Given the description of an element on the screen output the (x, y) to click on. 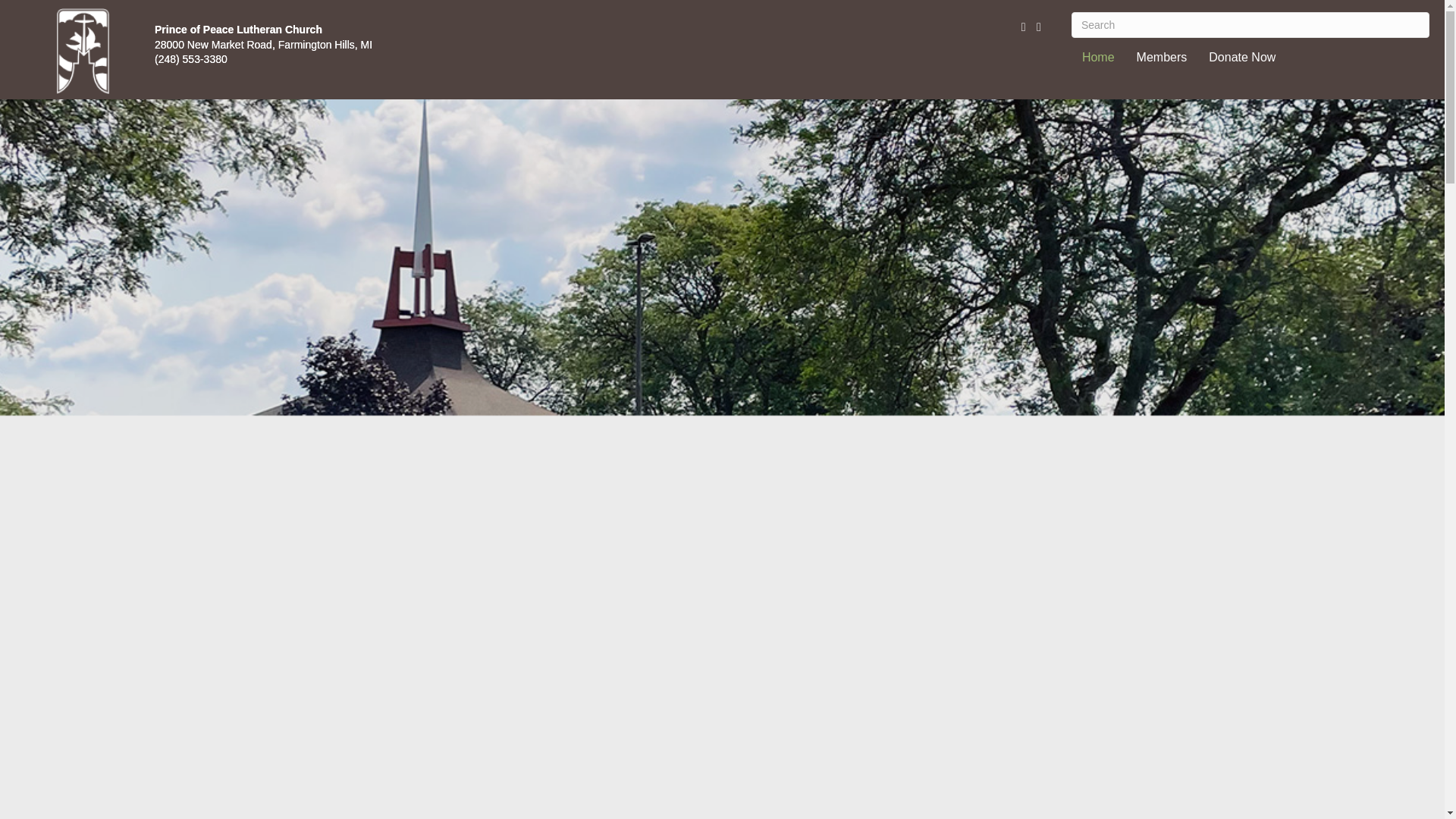
Home (1098, 56)
Donate Now (1241, 56)
Members (1161, 56)
Type and press Enter to search. (1250, 24)
